Given the description of an element on the screen output the (x, y) to click on. 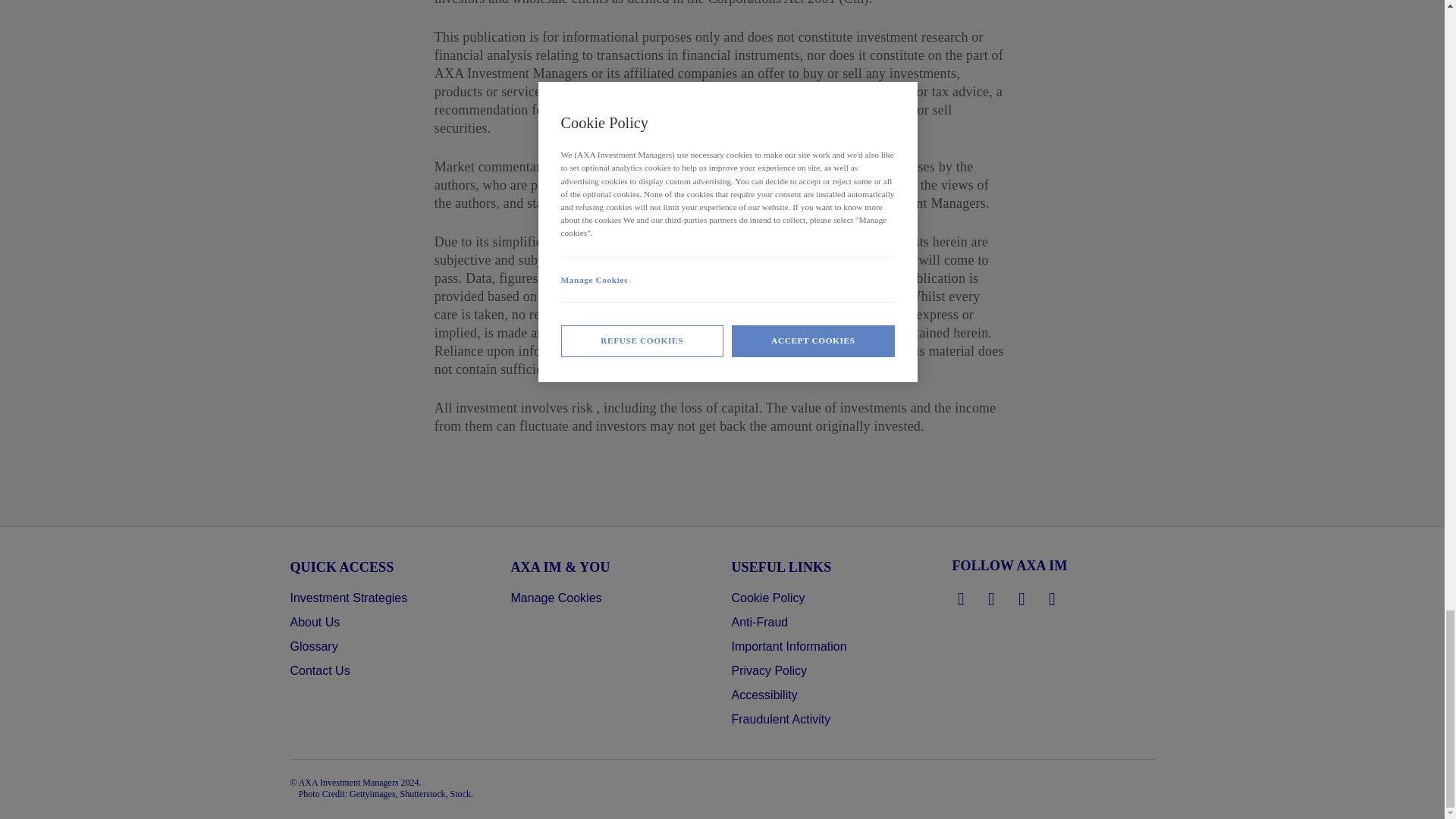
Follow us on Youtube (1052, 598)
Follow us on Twitter (991, 598)
Follow us on LinkedIn (961, 598)
Follow us on Facebook (1021, 598)
